Given the description of an element on the screen output the (x, y) to click on. 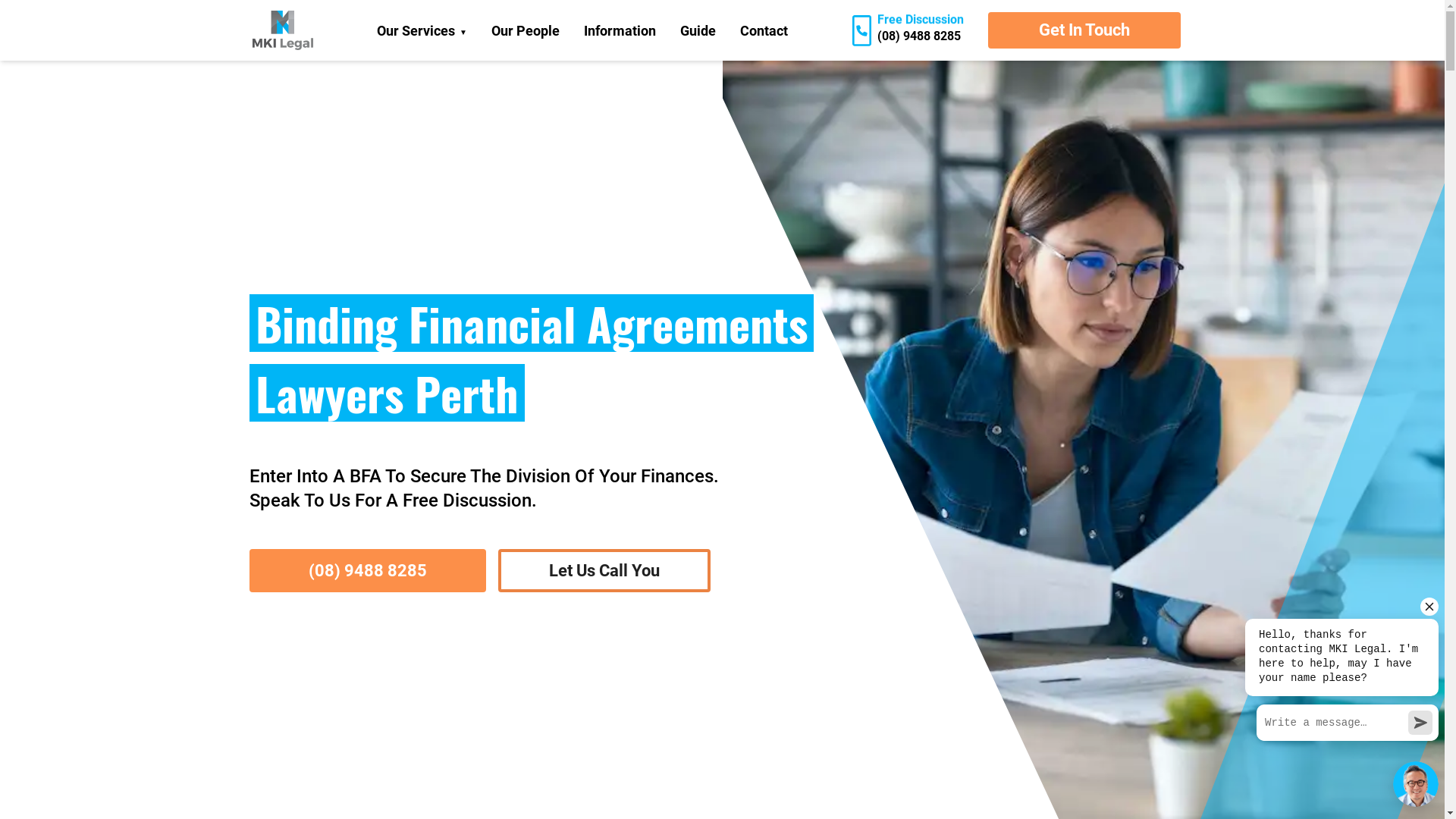
Guide Element type: text (698, 30)
(08) 9488 8285 Element type: text (366, 570)
Free Discussion
(08) 9488 8285 Element type: text (907, 30)
Let Us Call You Element type: text (603, 570)
Our Services Element type: text (421, 30)
Our People Element type: text (525, 30)
Contact Element type: text (764, 30)
Get In Touch Element type: text (1083, 30)
Information Element type: text (619, 30)
Free Discussion Element type: text (366, 612)
